Given the description of an element on the screen output the (x, y) to click on. 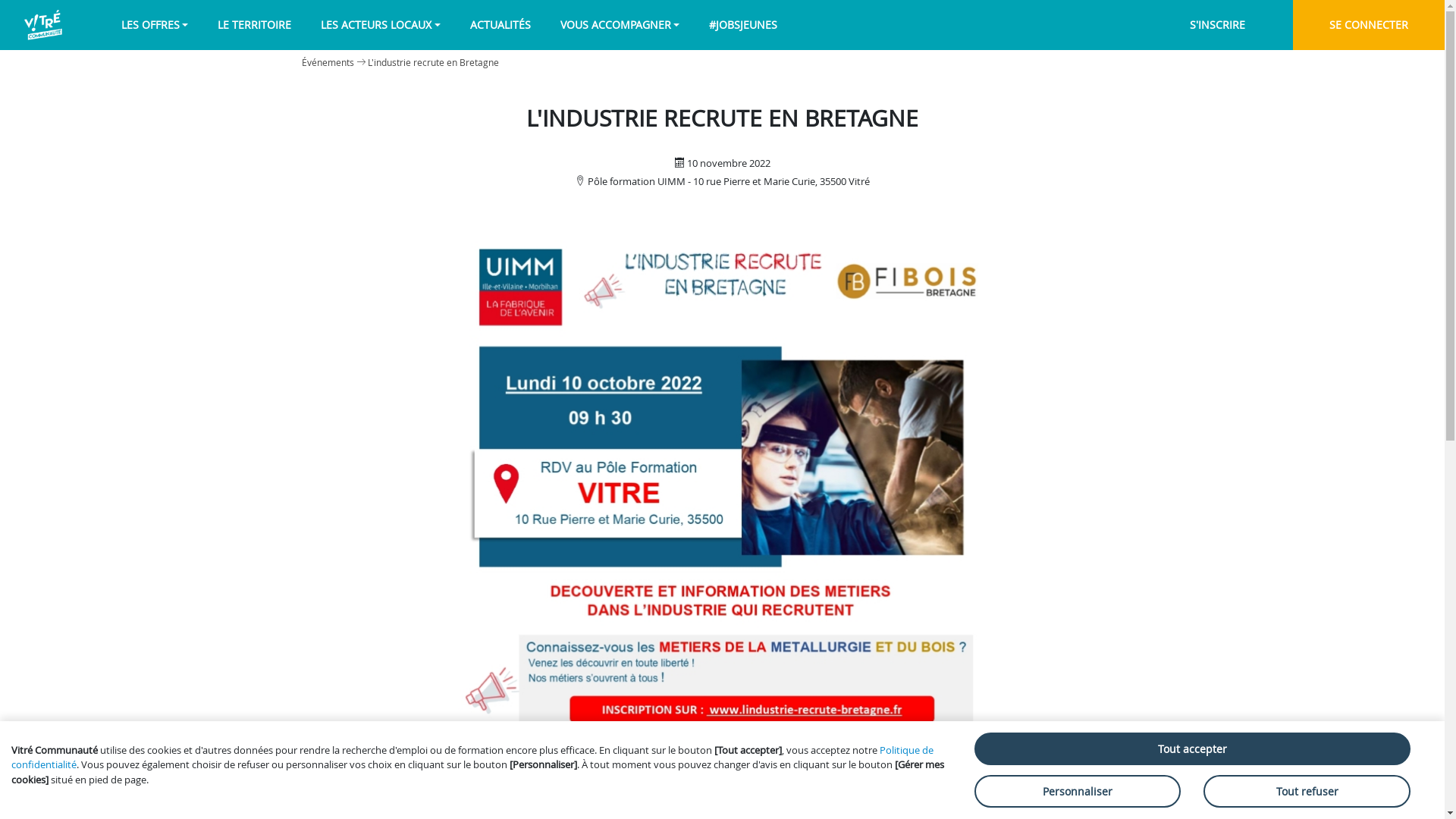
LE TERRITOIRE Element type: text (254, 24)
LES ACTEURS LOCAUX Element type: text (380, 24)
Tout refuser Element type: text (1306, 791)
SE CONNECTER Element type: text (1368, 25)
S'INSCRIRE Element type: text (1216, 25)
VOUS ACCOMPAGNER Element type: text (619, 24)
Personnaliser Element type: text (1077, 791)
Tout accepter Element type: text (1192, 748)
LES OFFRES Element type: text (154, 24)
#JOBSJEUNES Element type: text (743, 24)
